Given the description of an element on the screen output the (x, y) to click on. 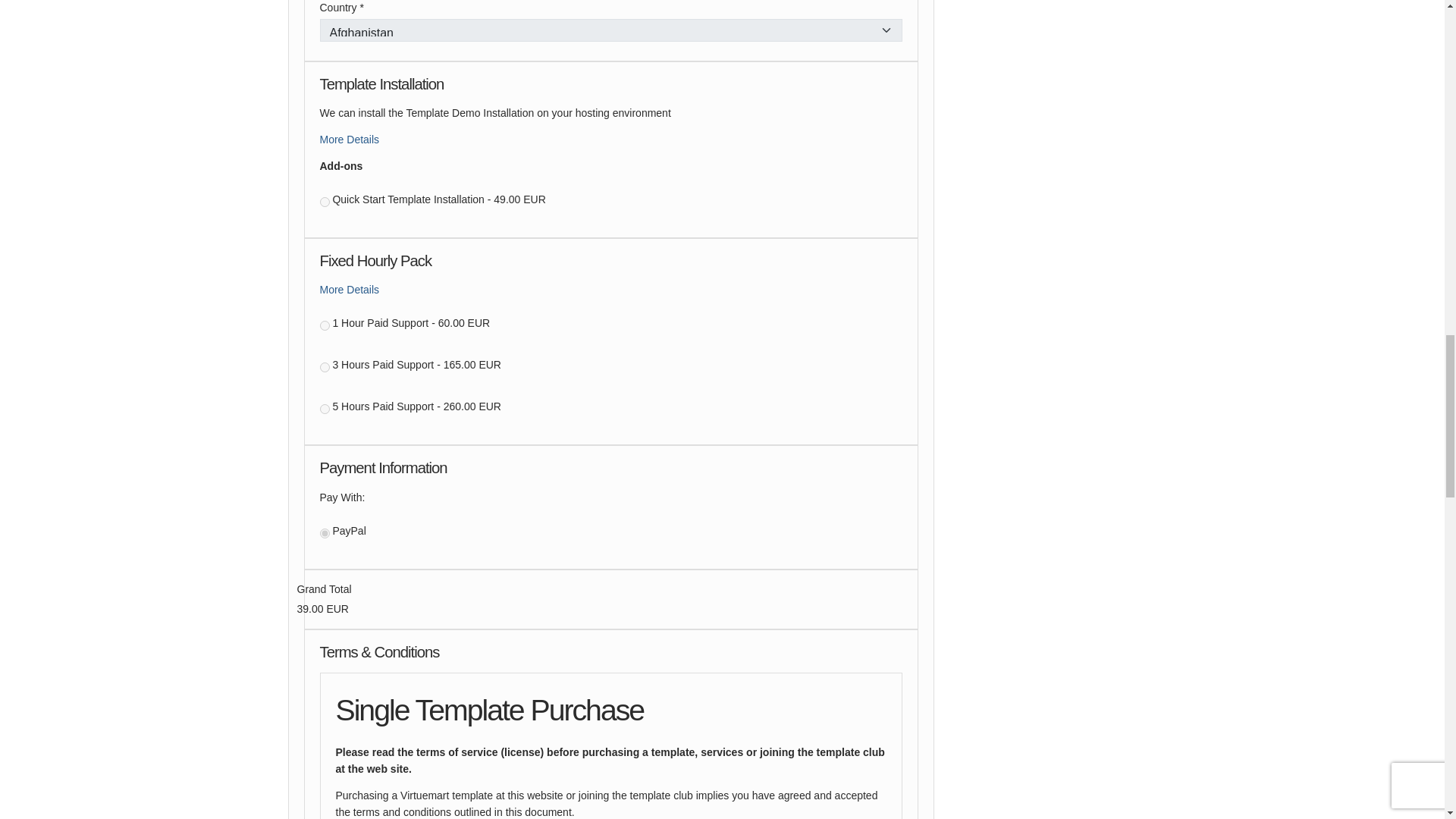
4 (325, 409)
1 (325, 202)
3 (325, 367)
2 (325, 325)
More Details (350, 289)
More Details (350, 139)
rsmembershippaypal (325, 533)
